Given the description of an element on the screen output the (x, y) to click on. 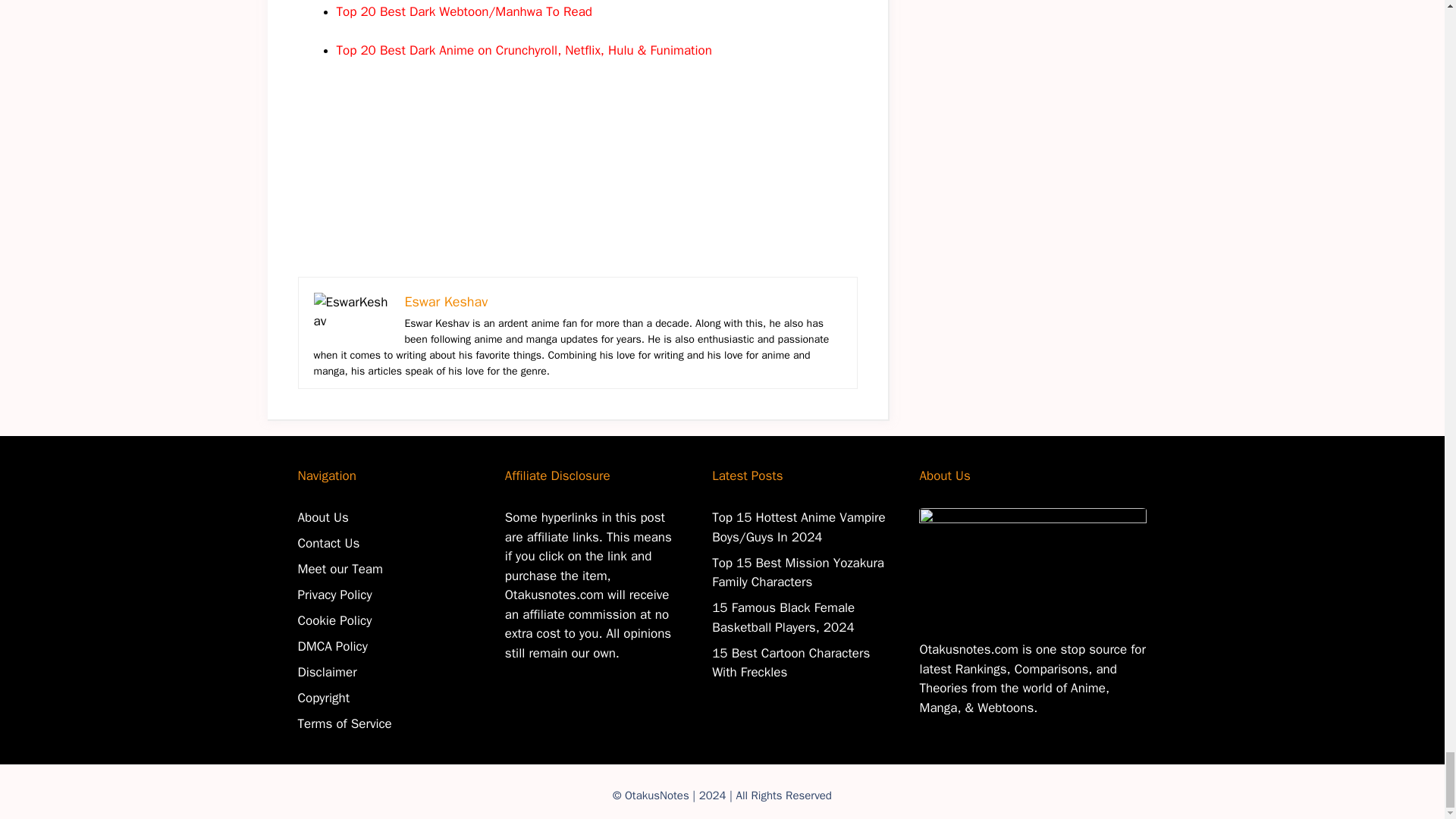
Eswar Keshav (445, 301)
Read (577, 11)
About Us (322, 517)
Contact Us (328, 543)
